Given the description of an element on the screen output the (x, y) to click on. 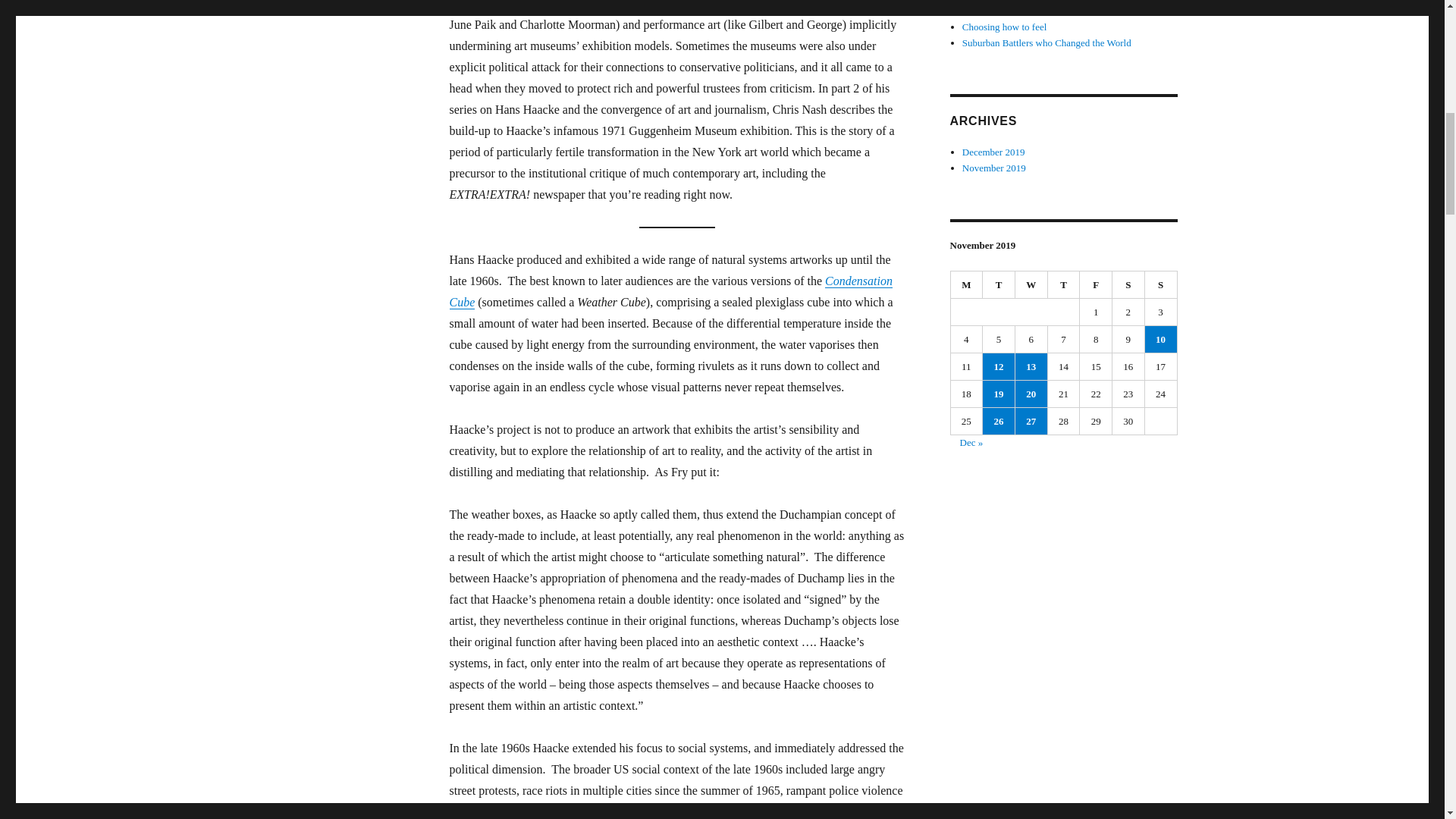
Friday (1096, 284)
10 (1160, 338)
December 2019 (993, 152)
Choosing how to feel (1004, 26)
13 (1030, 366)
20 (1030, 393)
Sunday (1160, 284)
26 (998, 420)
Tuesday (998, 284)
19 (998, 393)
Wednesday (1031, 284)
12 (998, 366)
Condensation Cube (669, 291)
Saturday (1128, 284)
